Given the description of an element on the screen output the (x, y) to click on. 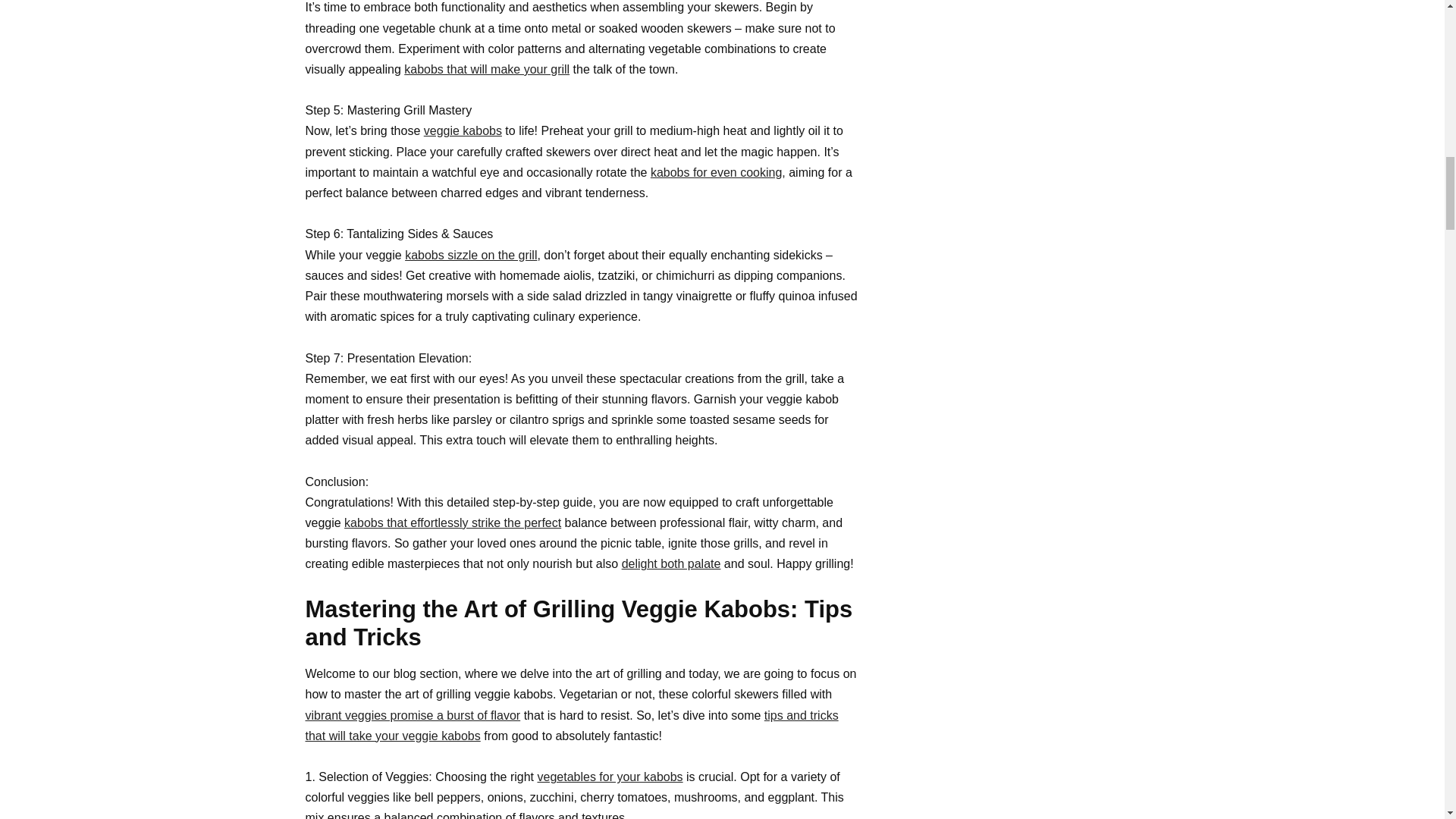
kabobs that effortlessly strike the perfect (451, 522)
delight both palate (670, 563)
vegetables for your kabobs (609, 776)
kabobs for even cooking, (718, 172)
kabobs that will make your grill (486, 69)
kabobs sizzle on the grill (470, 254)
tips and tricks that will take your veggie kabobs (571, 725)
veggie kabobs (462, 130)
vibrant veggies promise a burst of flavor (411, 715)
